Given the description of an element on the screen output the (x, y) to click on. 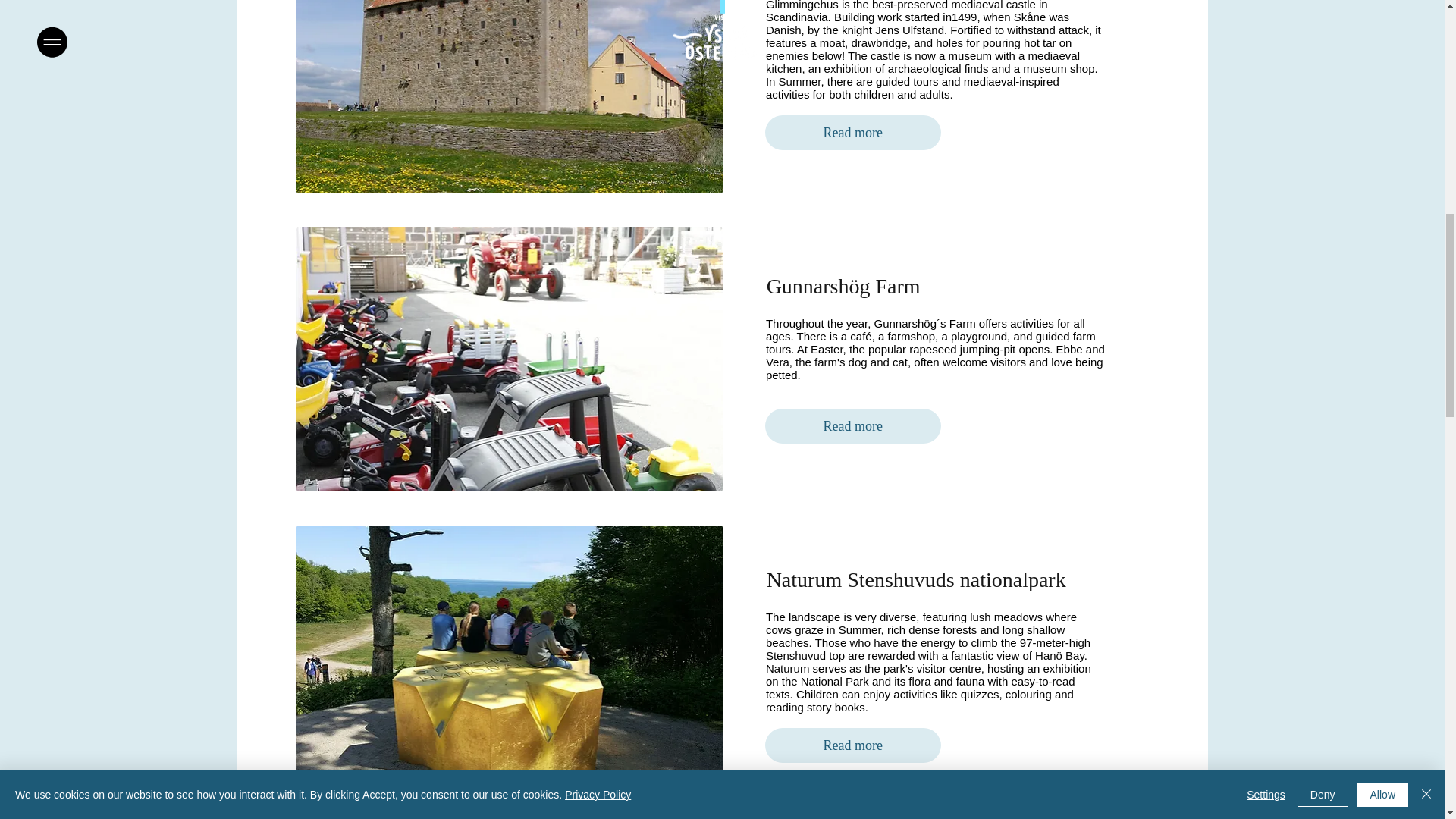
Read more (852, 425)
Read more (852, 745)
Read more (852, 132)
